Given the description of an element on the screen output the (x, y) to click on. 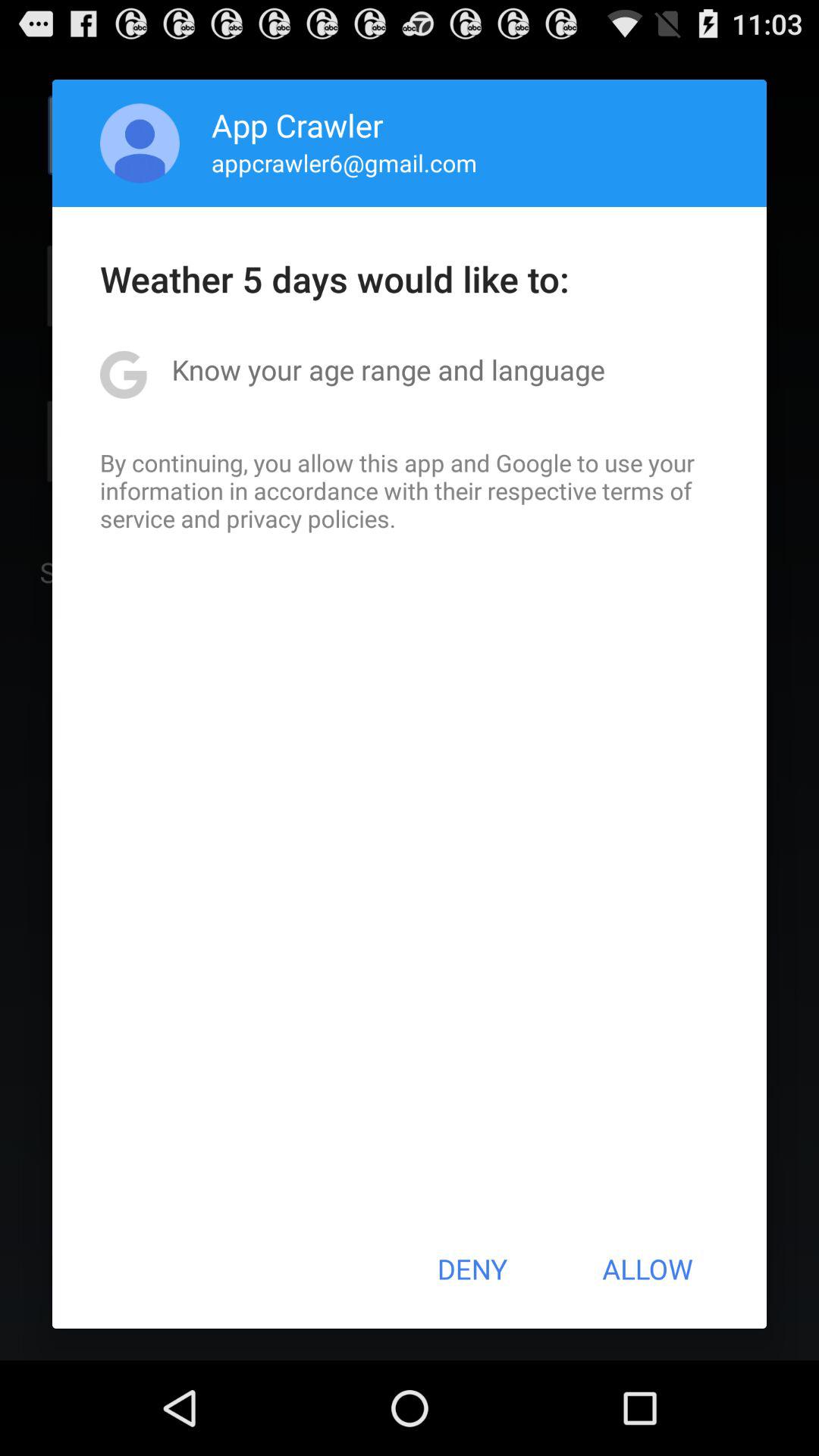
choose app above weather 5 days app (139, 143)
